Given the description of an element on the screen output the (x, y) to click on. 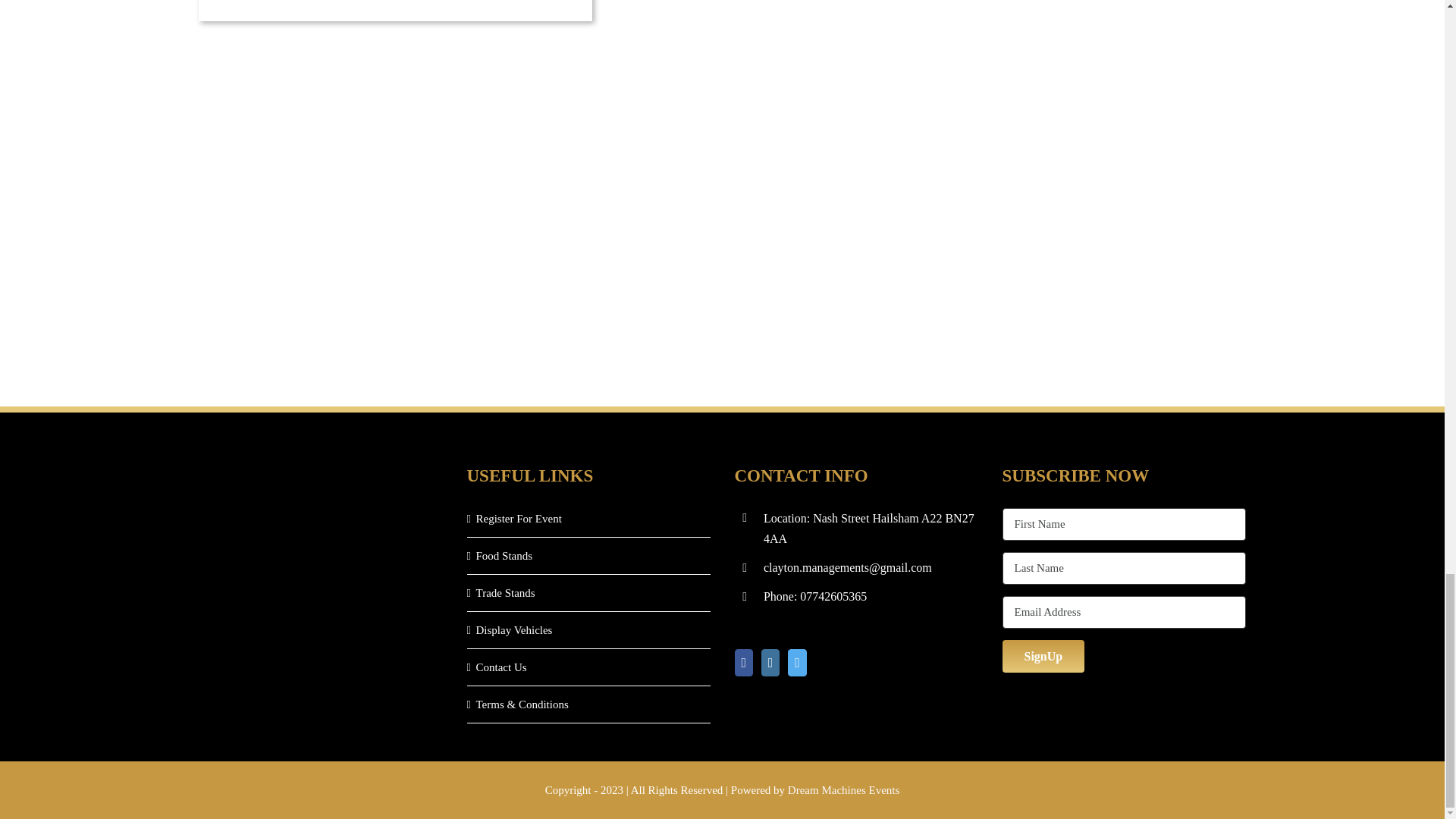
Display Vehicles (589, 629)
Contact Us (589, 666)
Trade Stands (589, 591)
Register For Event (589, 517)
SignUp (1043, 655)
Food Stands (589, 555)
